Given the description of an element on the screen output the (x, y) to click on. 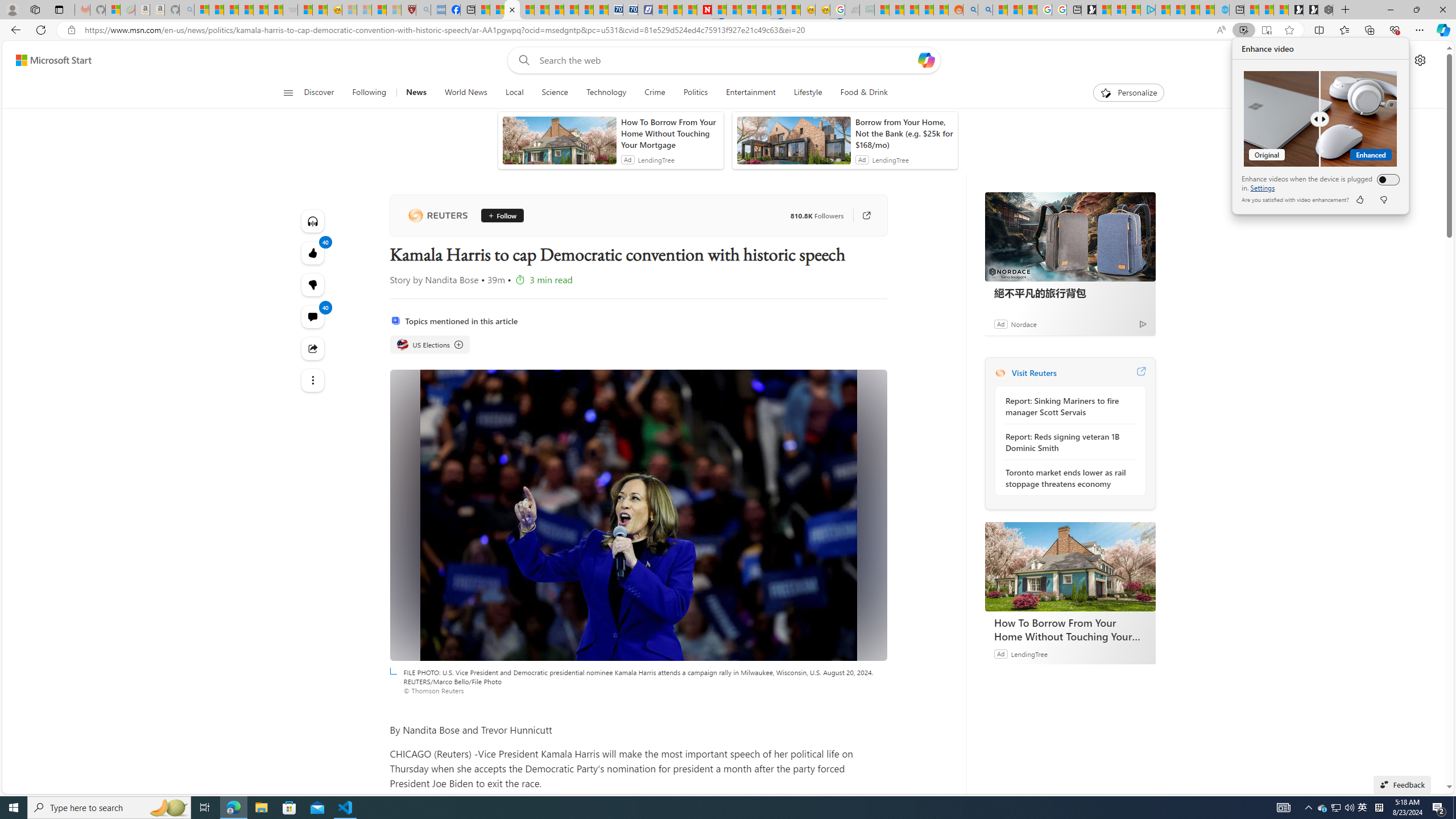
Toronto market ends lower as rail stoppage threatens economy (1066, 477)
Microsoft Edge - 1 running window (233, 807)
Combat Siege - Sleeping (290, 9)
Q2790: 100% (1349, 807)
Action Center, 2 new notifications (1335, 807)
